Given the description of an element on the screen output the (x, y) to click on. 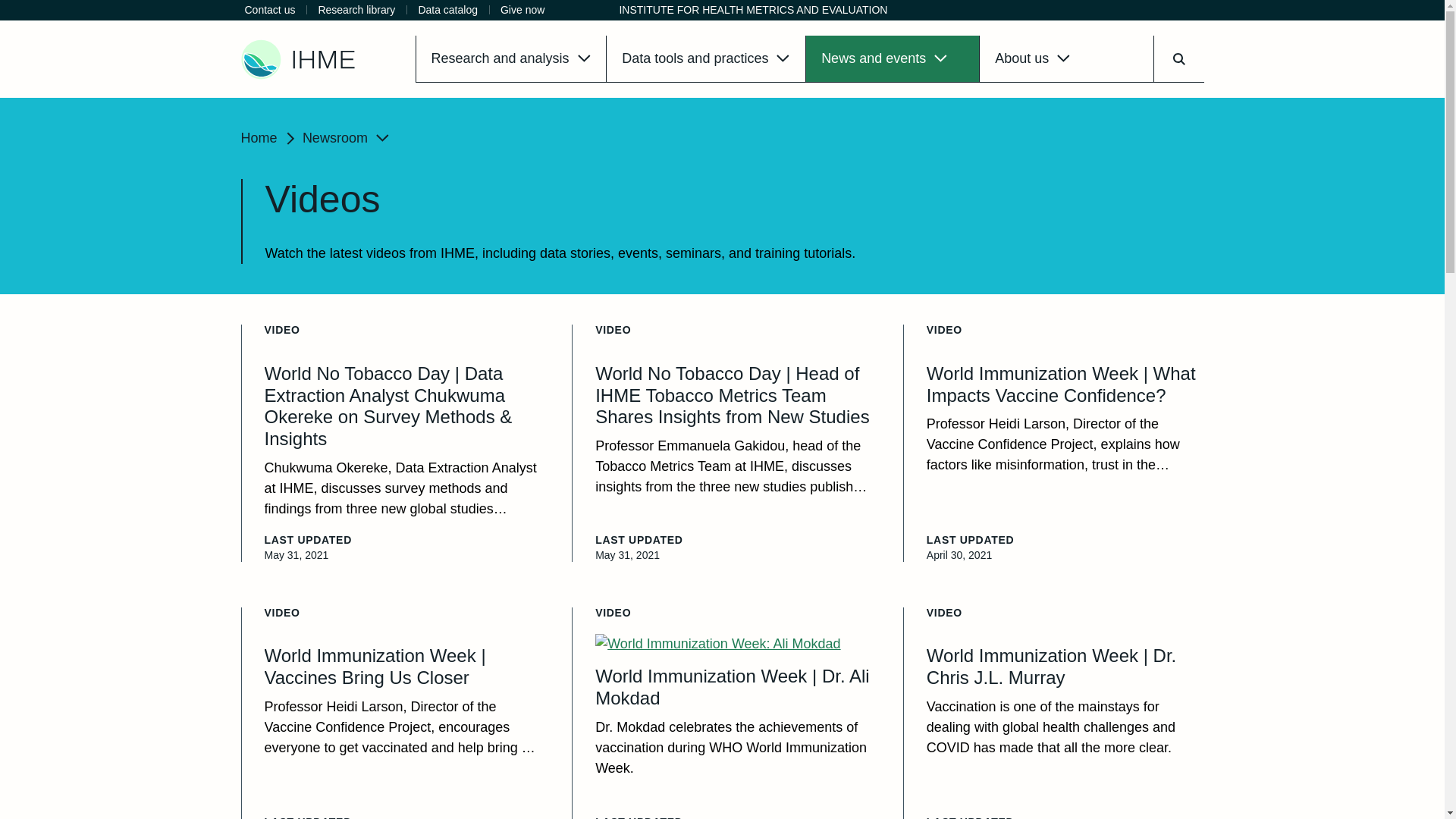
Research library (356, 10)
Research and analysis (510, 59)
Contact us (270, 10)
Data catalog (447, 10)
See all of IHME's research library (356, 10)
Give now (522, 10)
